Given the description of an element on the screen output the (x, y) to click on. 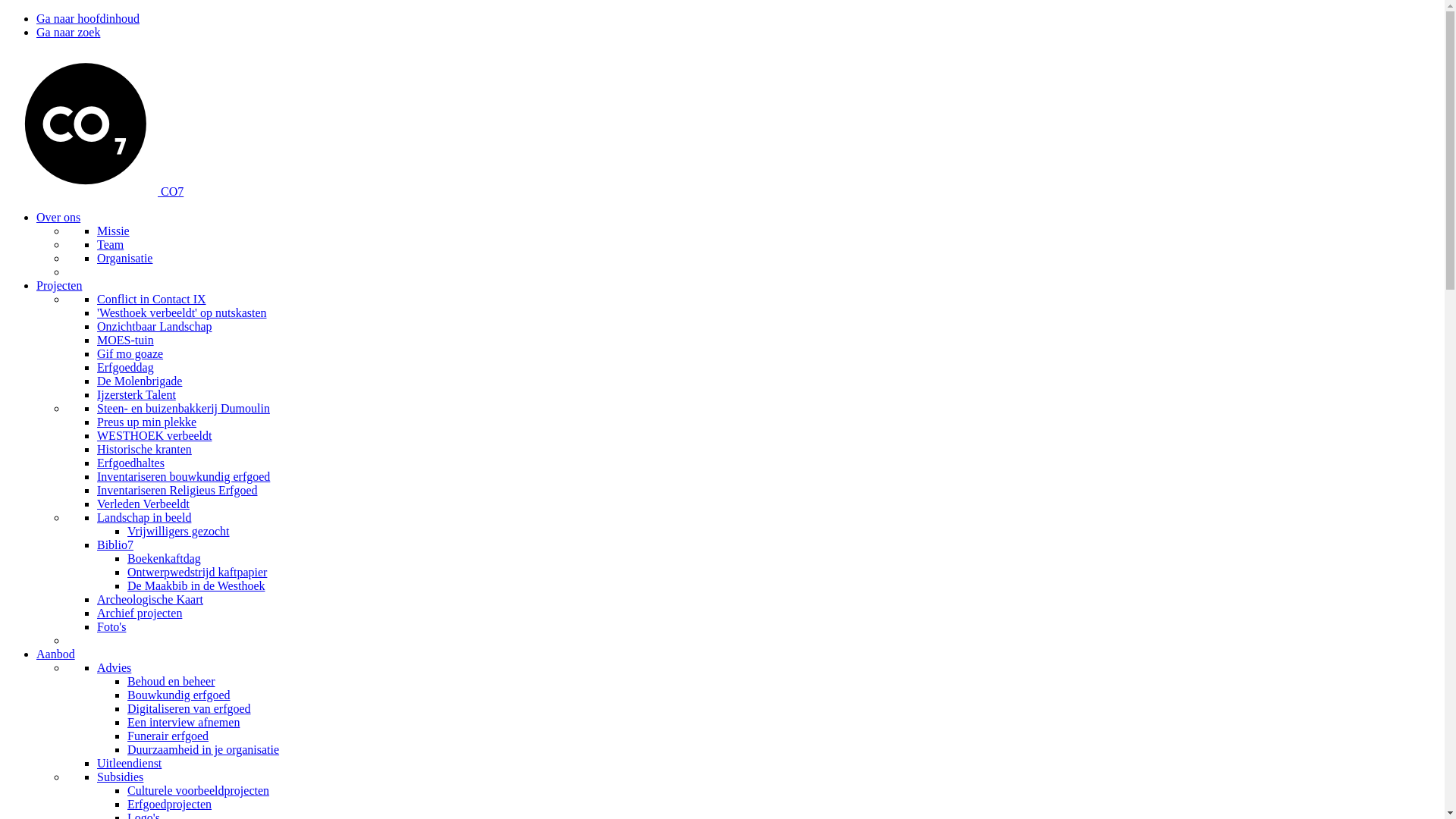
Inventariseren bouwkundig erfgoed Element type: text (183, 476)
WESTHOEK verbeeldt Element type: text (154, 435)
CO7 Element type: text (171, 191)
Landschap in beeld Element type: text (144, 517)
Organisatie Element type: text (124, 257)
Ga naar de startpagina Element type: hover (83, 191)
Archief projecten Element type: text (139, 612)
Ijzersterk Talent Element type: text (136, 394)
Bouwkundig erfgoed Element type: text (178, 694)
Funerair erfgoed Element type: text (167, 735)
Erfgoedprojecten Element type: text (169, 803)
Ga naar hoofdinhoud Element type: text (87, 18)
Verleden Verbeeldt Element type: text (143, 503)
Preus up min plekke Element type: text (146, 421)
Subsidies Element type: text (120, 776)
Onzichtbaar Landschap Element type: text (154, 326)
Erfgoedhaltes Element type: text (130, 462)
Over ons Element type: text (58, 216)
Uitleendienst Element type: text (129, 762)
Inventariseren Religieus Erfgoed Element type: text (177, 489)
Projecten Element type: text (58, 285)
MOES-tuin Element type: text (125, 339)
Missie Element type: text (113, 230)
Duurzaamheid in je organisatie Element type: text (203, 749)
Archeologische Kaart Element type: text (150, 599)
Ga naar zoek Element type: text (68, 31)
'Westhoek verbeeldt' op nutskasten Element type: text (181, 312)
Aanbod Element type: text (55, 653)
Boekenkaftdag Element type: text (163, 558)
Foto's Element type: text (111, 626)
De Maakbib in de Westhoek Element type: text (195, 585)
Steen- en buizenbakkerij Dumoulin Element type: text (183, 407)
Historische kranten Element type: text (144, 448)
Team Element type: text (110, 244)
Digitaliseren van erfgoed Element type: text (189, 708)
Vrijwilligers gezocht Element type: text (178, 530)
Behoud en beheer Element type: text (171, 680)
Erfgoeddag Element type: text (125, 366)
De Molenbrigade Element type: text (139, 380)
Ontwerpwedstrijd kaftpapier Element type: text (196, 571)
Biblio7 Element type: text (115, 544)
Een interview afnemen Element type: text (183, 721)
Culturele voorbeeldprojecten Element type: text (198, 790)
Gif mo goaze Element type: text (130, 353)
Advies Element type: text (114, 667)
Conflict in Contact IX Element type: text (151, 298)
